Given the description of an element on the screen output the (x, y) to click on. 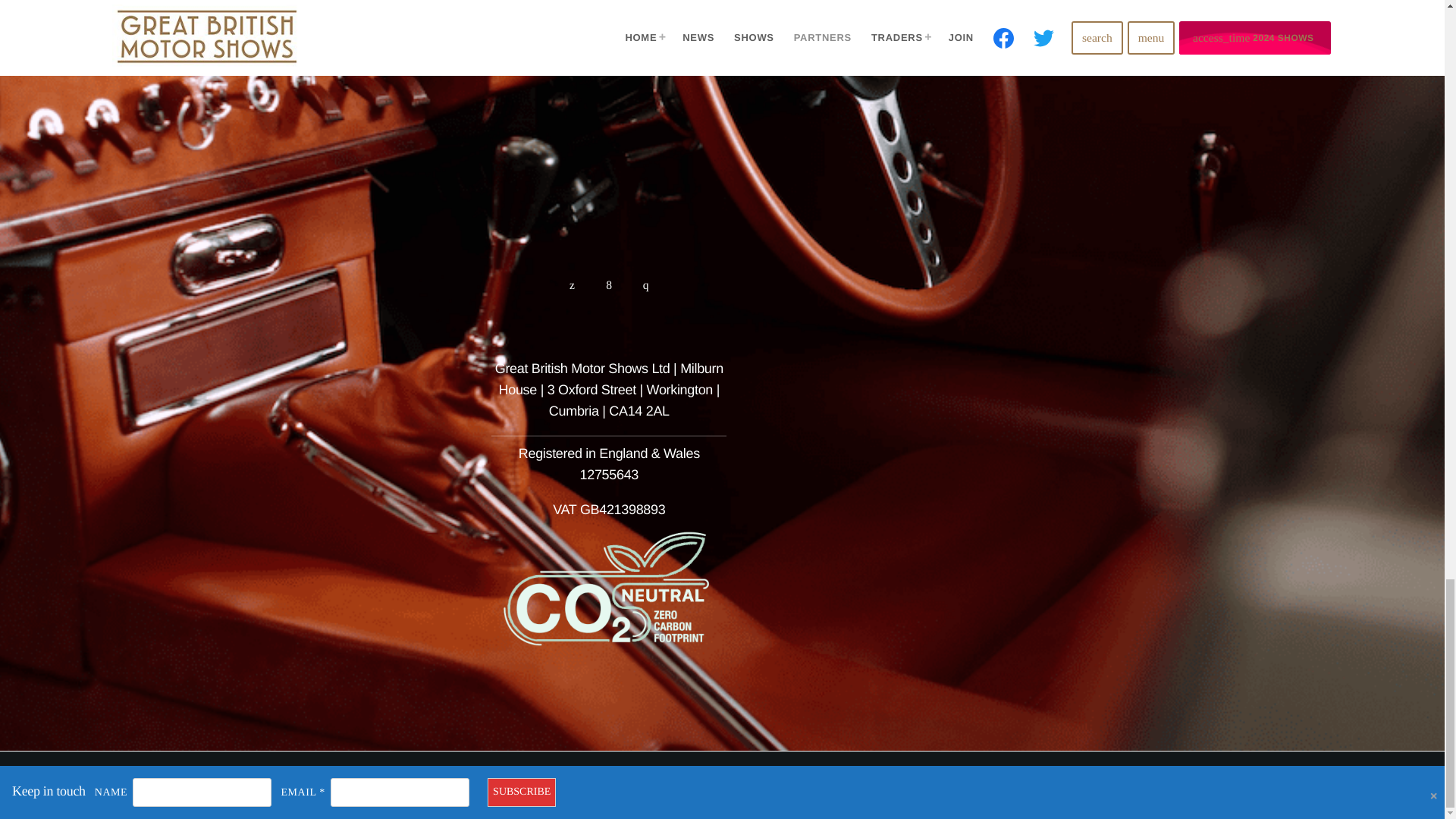
CO2 Light (609, 591)
